Given the description of an element on the screen output the (x, y) to click on. 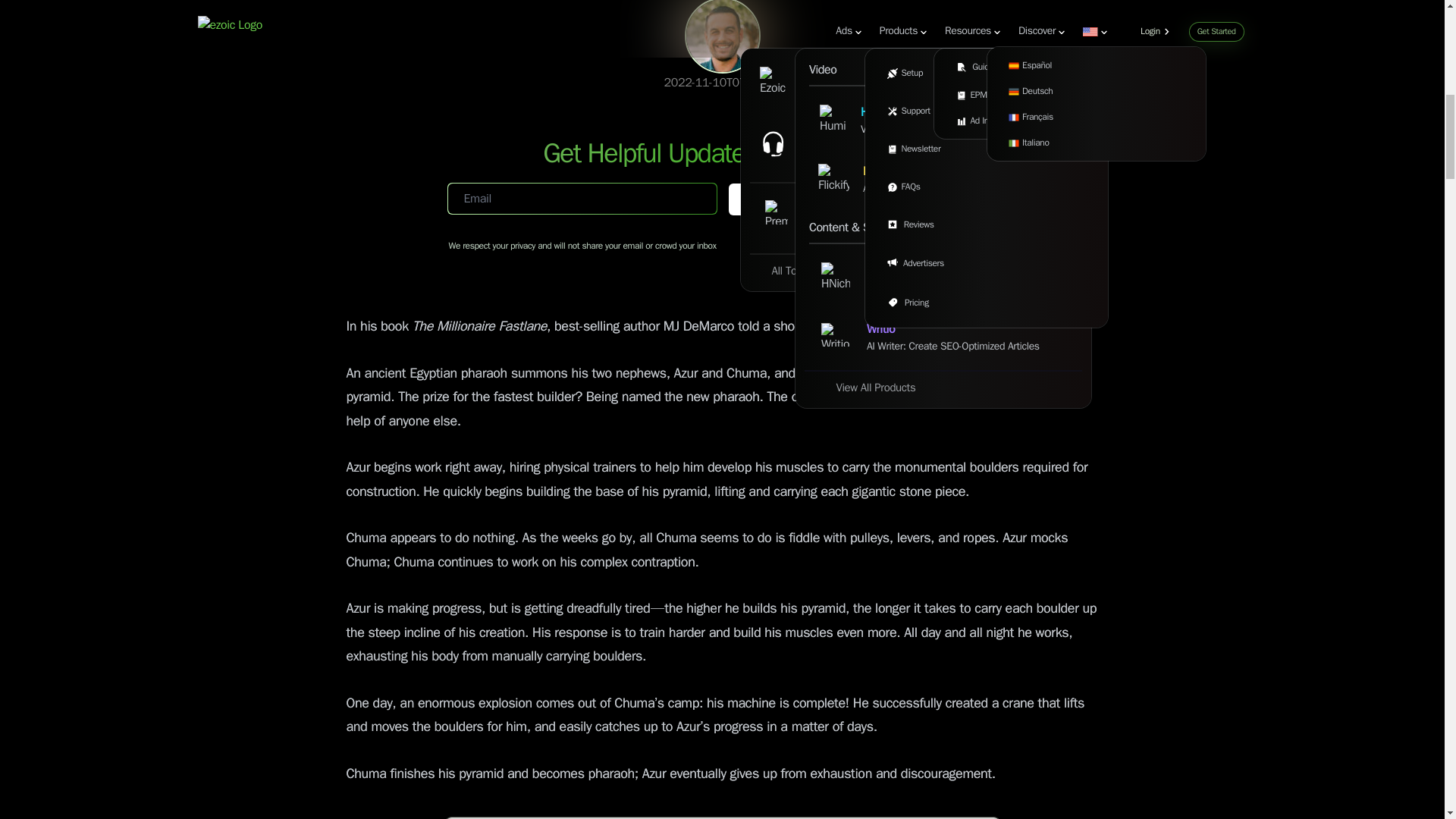
Subscribe Now (861, 199)
